Given the description of an element on the screen output the (x, y) to click on. 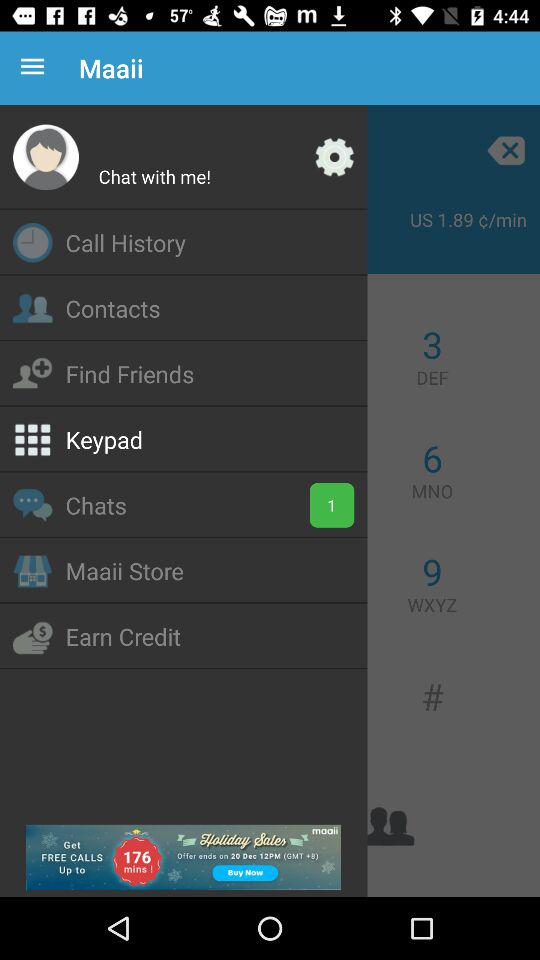
click icon left to maaii store (32, 571)
click on the option which is below keypad (32, 505)
